Given the description of an element on the screen output the (x, y) to click on. 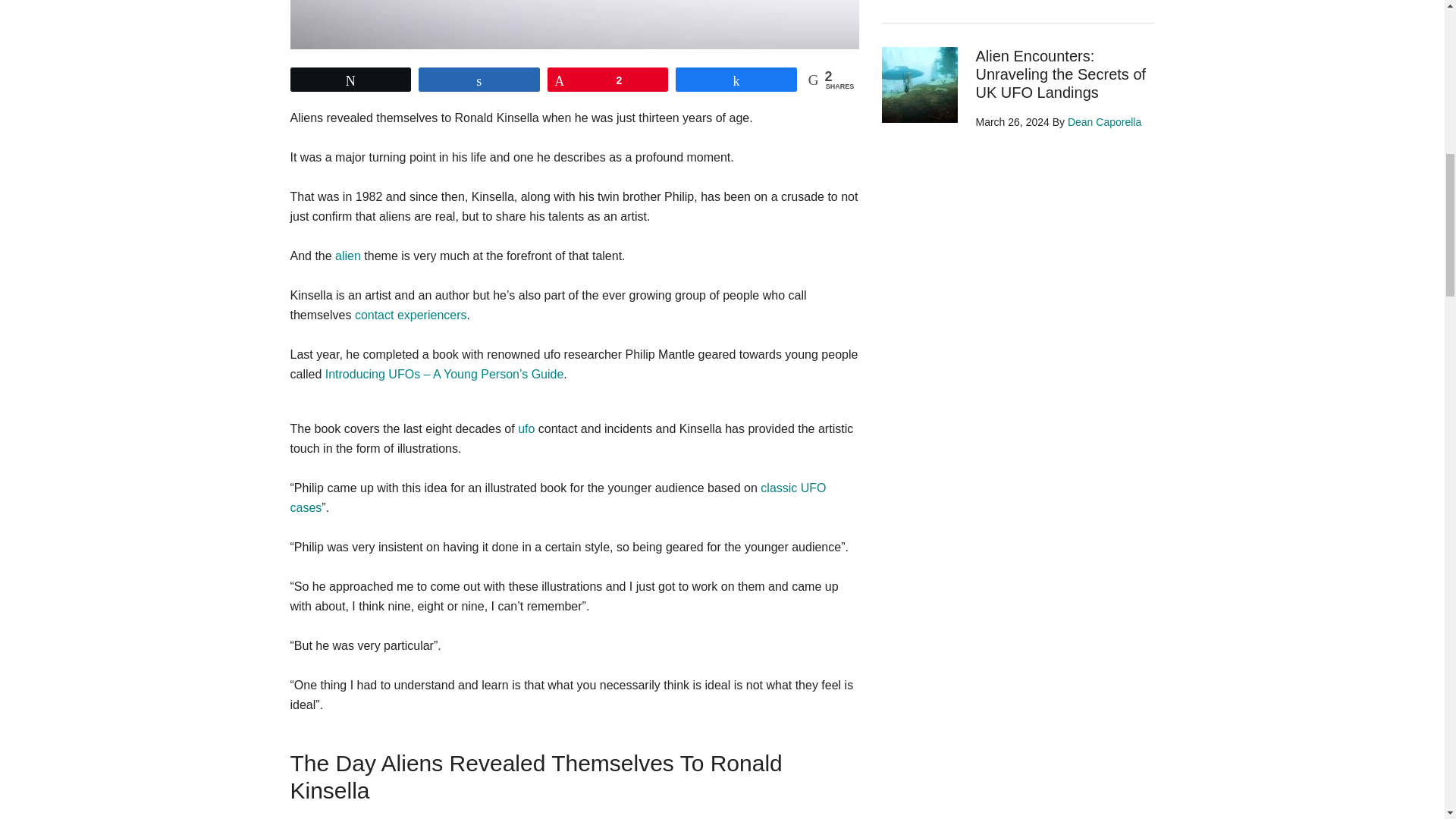
ufo (526, 428)
contact experiencers (411, 314)
alien (347, 255)
classic UFO cases (557, 497)
ufo (526, 428)
contact experiencers (411, 314)
alien (347, 255)
2 (608, 78)
